Given the description of an element on the screen output the (x, y) to click on. 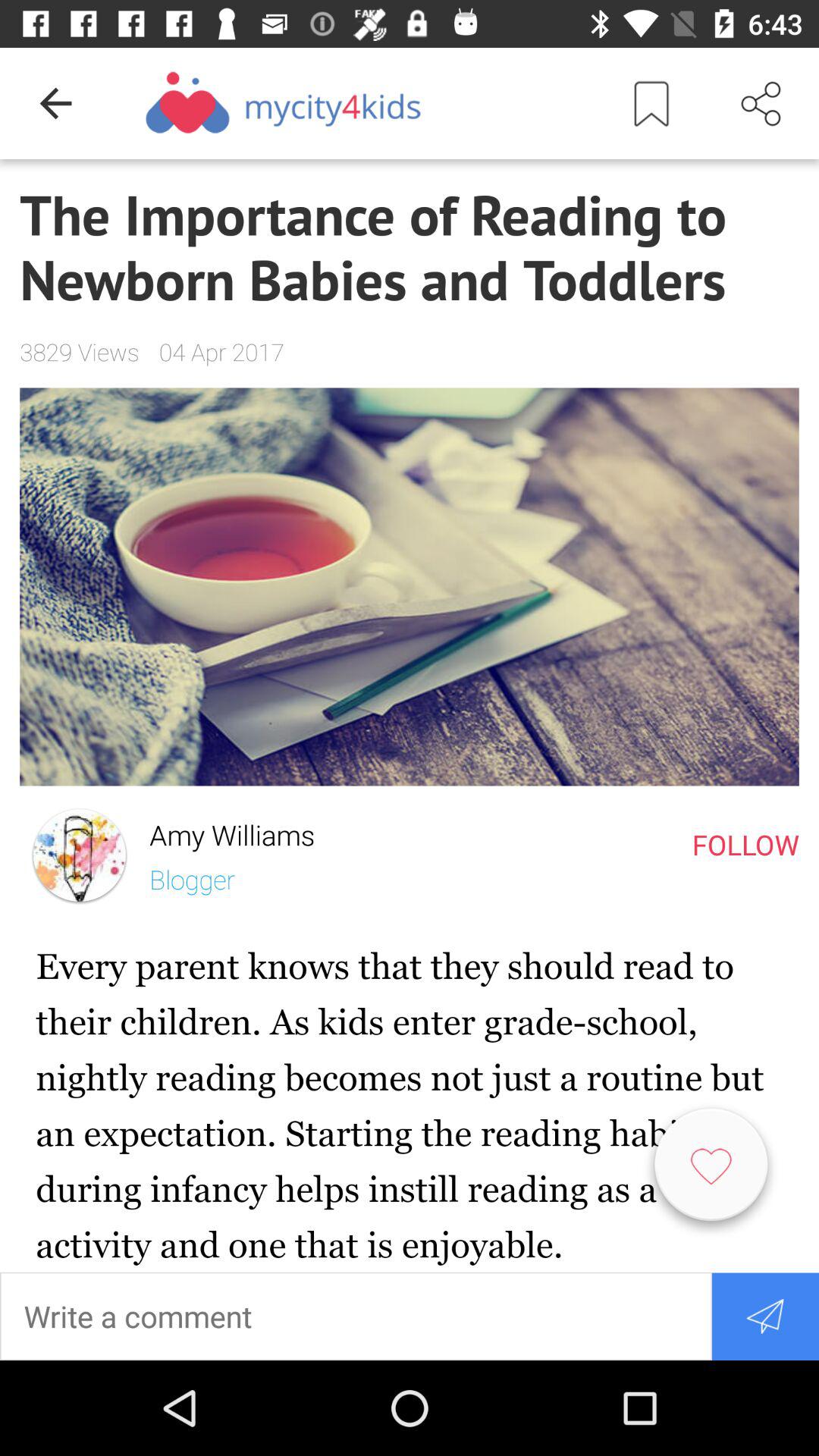
like option (710, 1170)
